Given the description of an element on the screen output the (x, y) to click on. 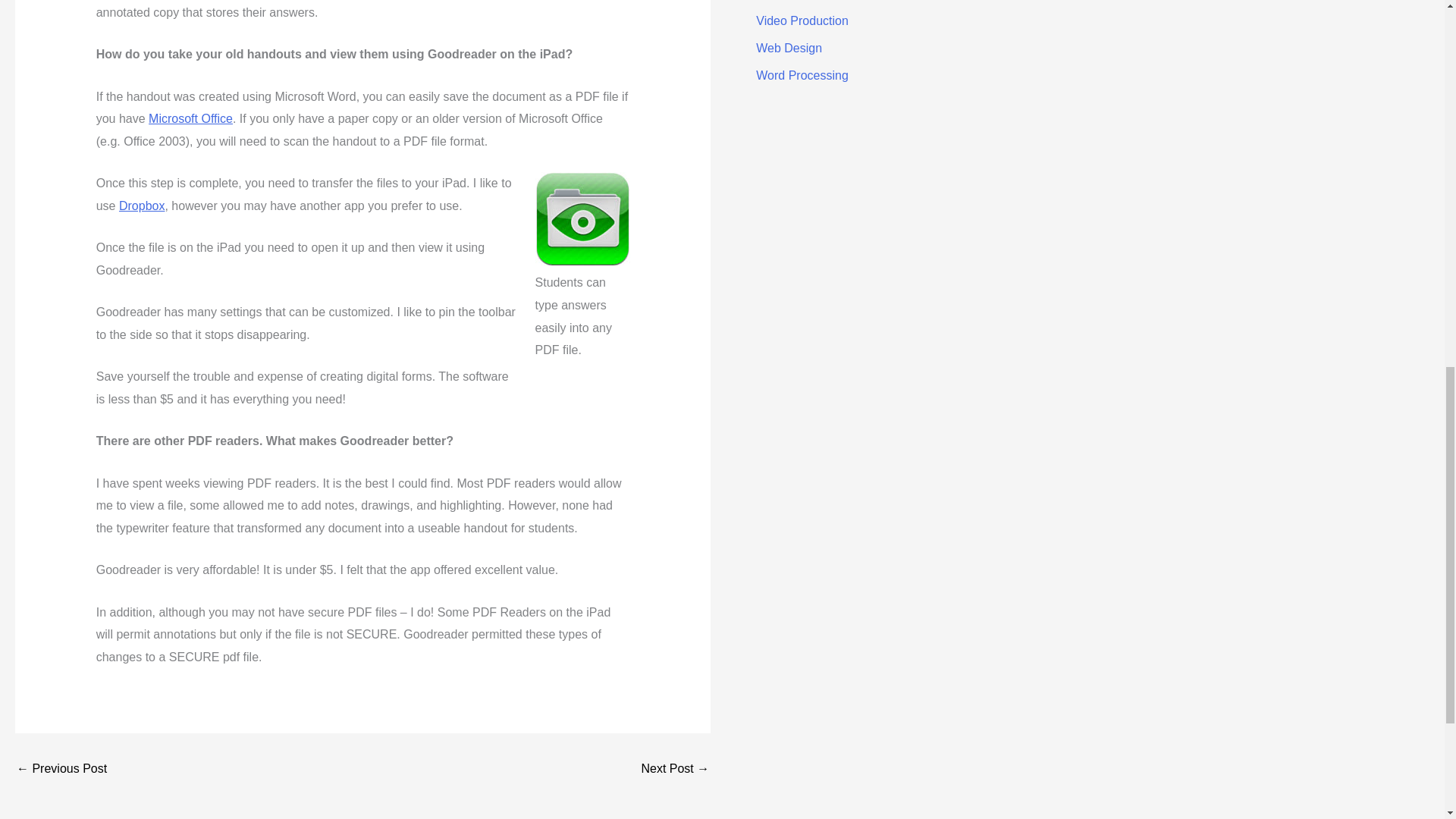
Dropbox (141, 205)
PowerPoint Scrapbook (674, 768)
Microsoft Office Add-in: Microsoft Save as PDF or XPS (190, 118)
Print from your iPad Easily (61, 768)
